Given the description of an element on the screen output the (x, y) to click on. 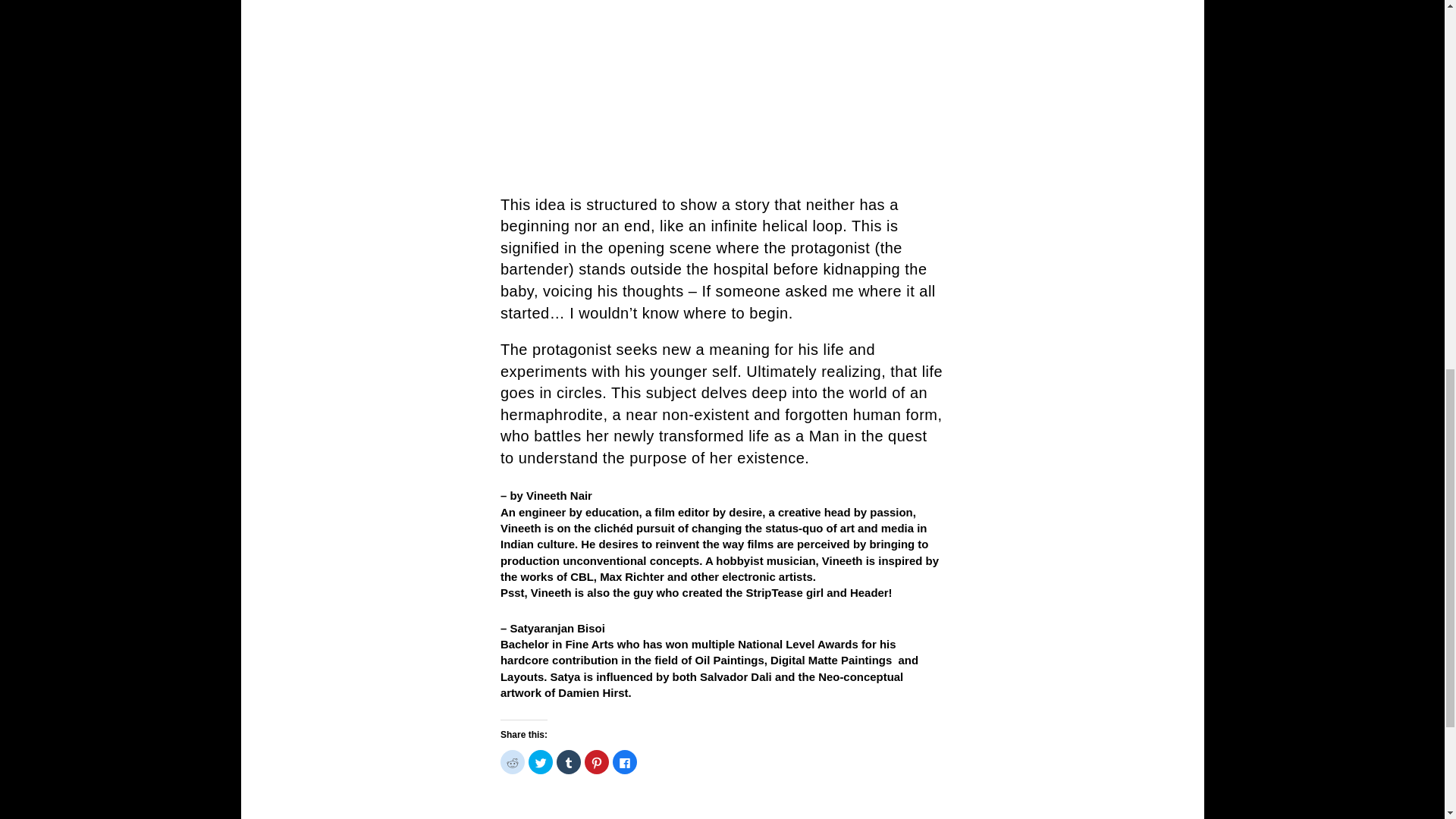
Click to share on Facebook (624, 761)
Click to share on Tumblr (568, 761)
Click to share on Twitter (540, 761)
Click to share on Reddit (512, 761)
Click to share on Pinterest (596, 761)
